Given the description of an element on the screen output the (x, y) to click on. 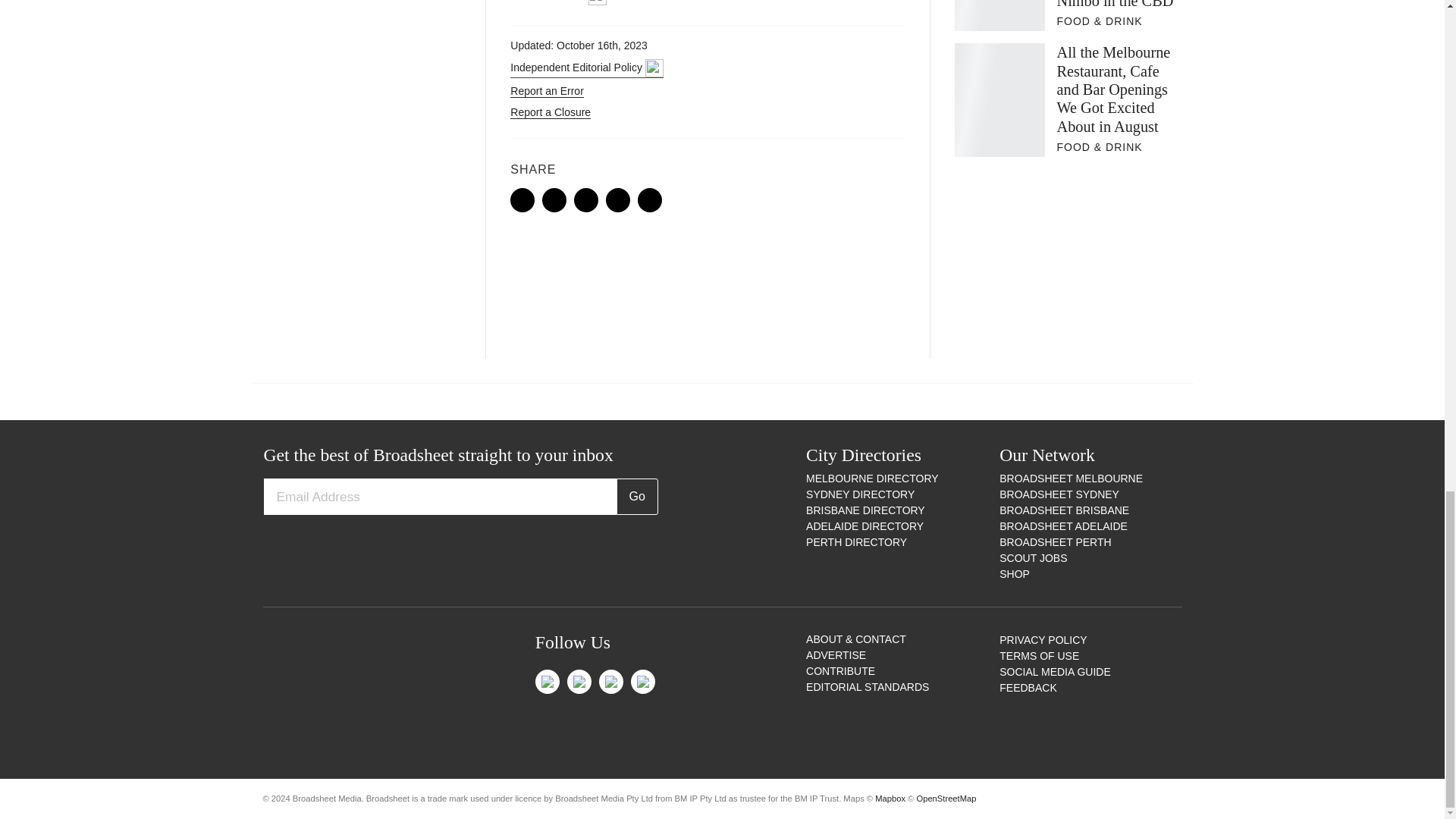
Report a Closure (551, 112)
Report an Error (547, 91)
Independent Editorial Policy (586, 67)
